Given the description of an element on the screen output the (x, y) to click on. 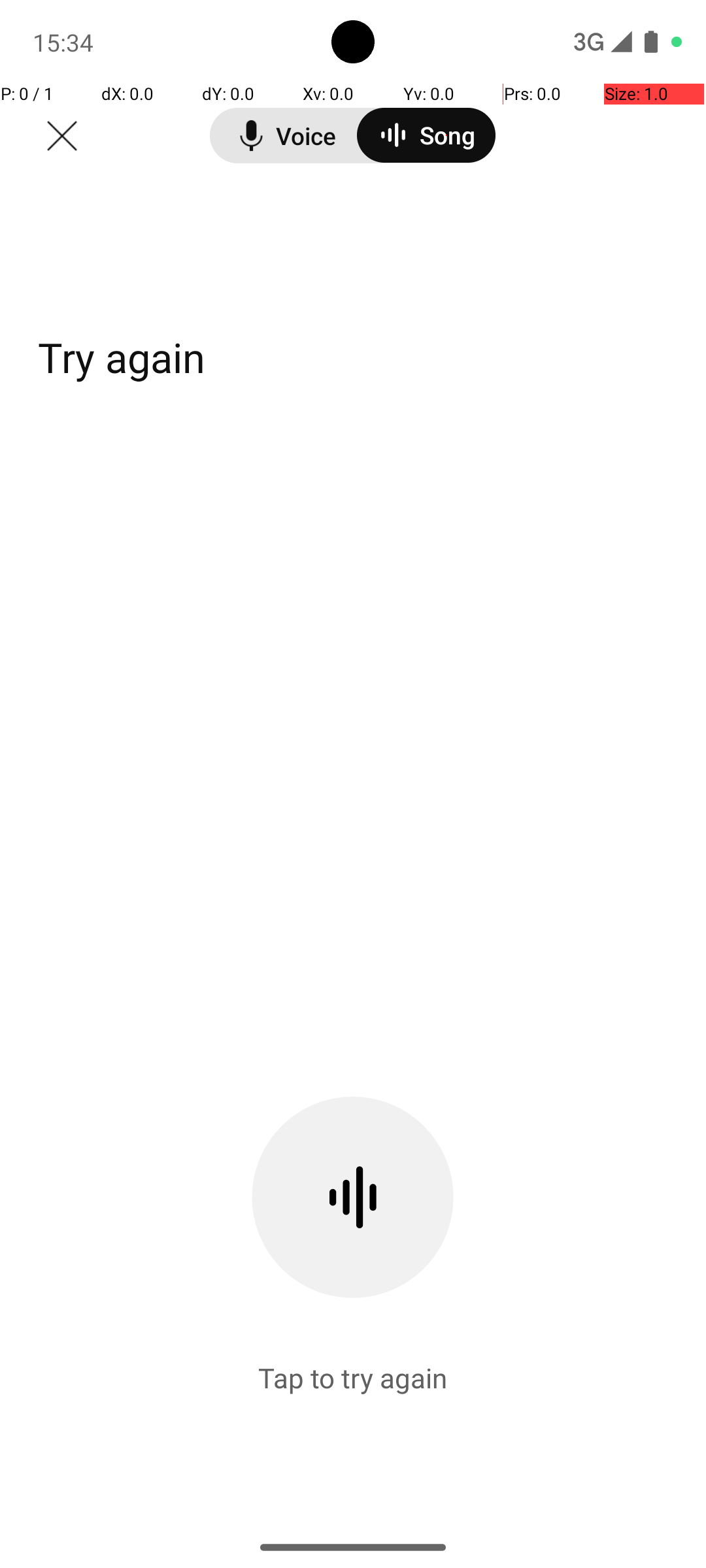
Didn’t hear that. Try again. Element type: android.widget.TextView (280, 356)
Tap to try again Element type: android.widget.TextView (352, 1377)
Voice Element type: android.widget.TextView (282, 135)
Song Element type: android.widget.TextView (425, 135)
Tap microphone to try again Element type: android.widget.TextView (352, 1441)
Tap to speak button Element type: android.widget.ImageButton (352, 1286)
